Given the description of an element on the screen output the (x, y) to click on. 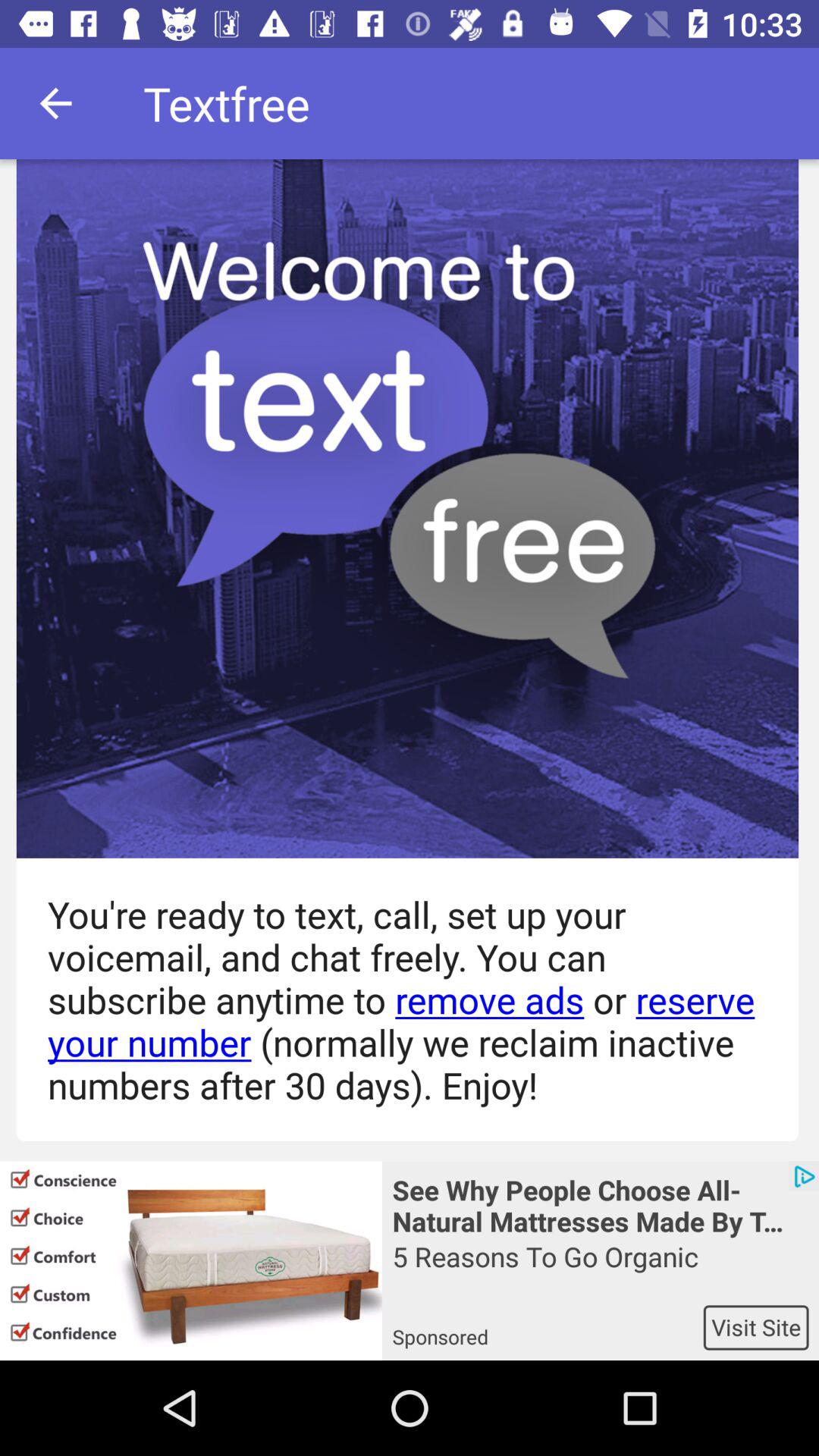
turn off app next to the see why people icon (191, 1260)
